Given the description of an element on the screen output the (x, y) to click on. 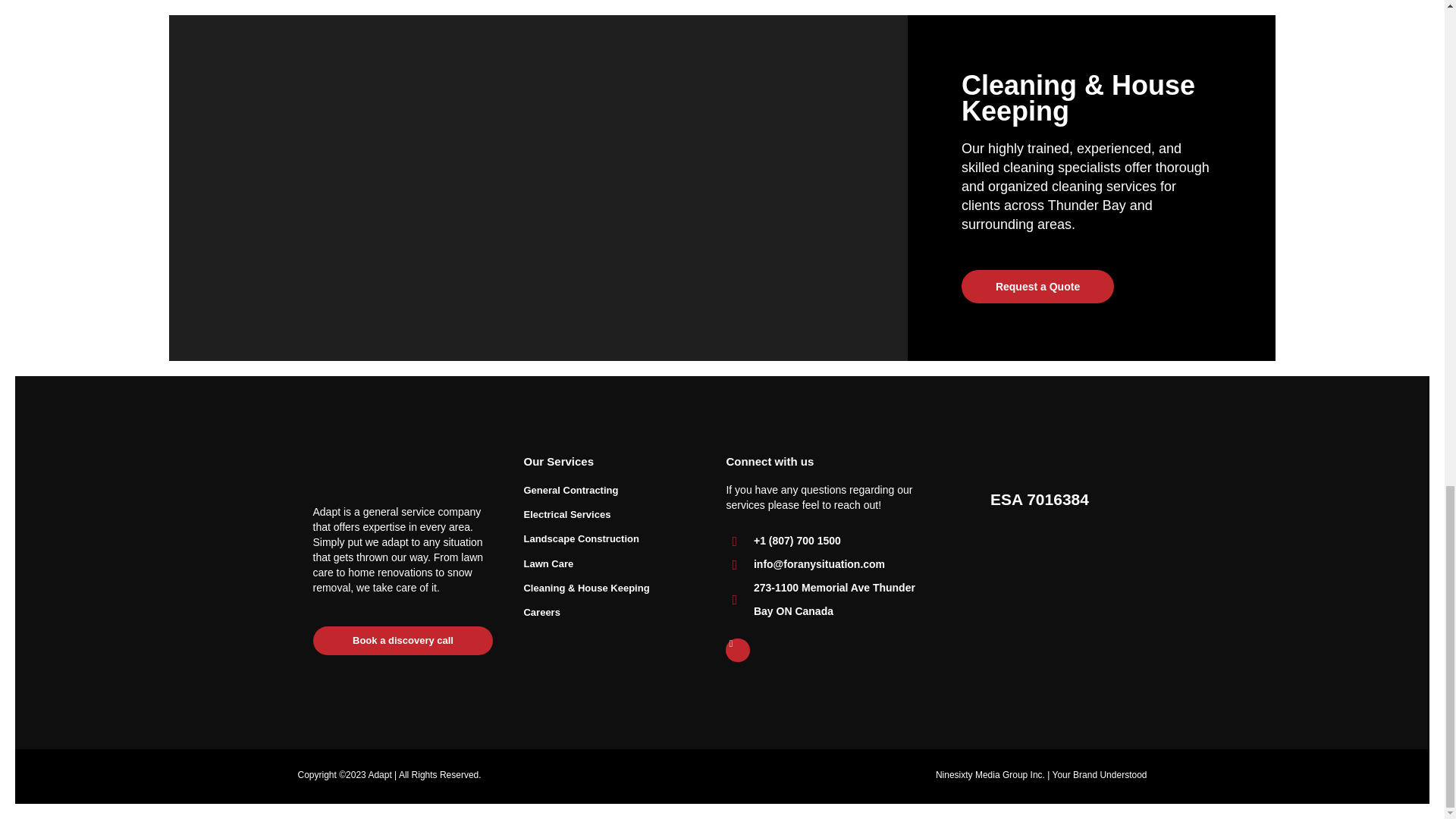
General Contracting (608, 490)
Book a discovery call (403, 640)
Request a Quote (1036, 286)
Electrical Services (608, 514)
Lawn Care (608, 564)
Careers (608, 612)
Landscape Construction (608, 538)
